Given the description of an element on the screen output the (x, y) to click on. 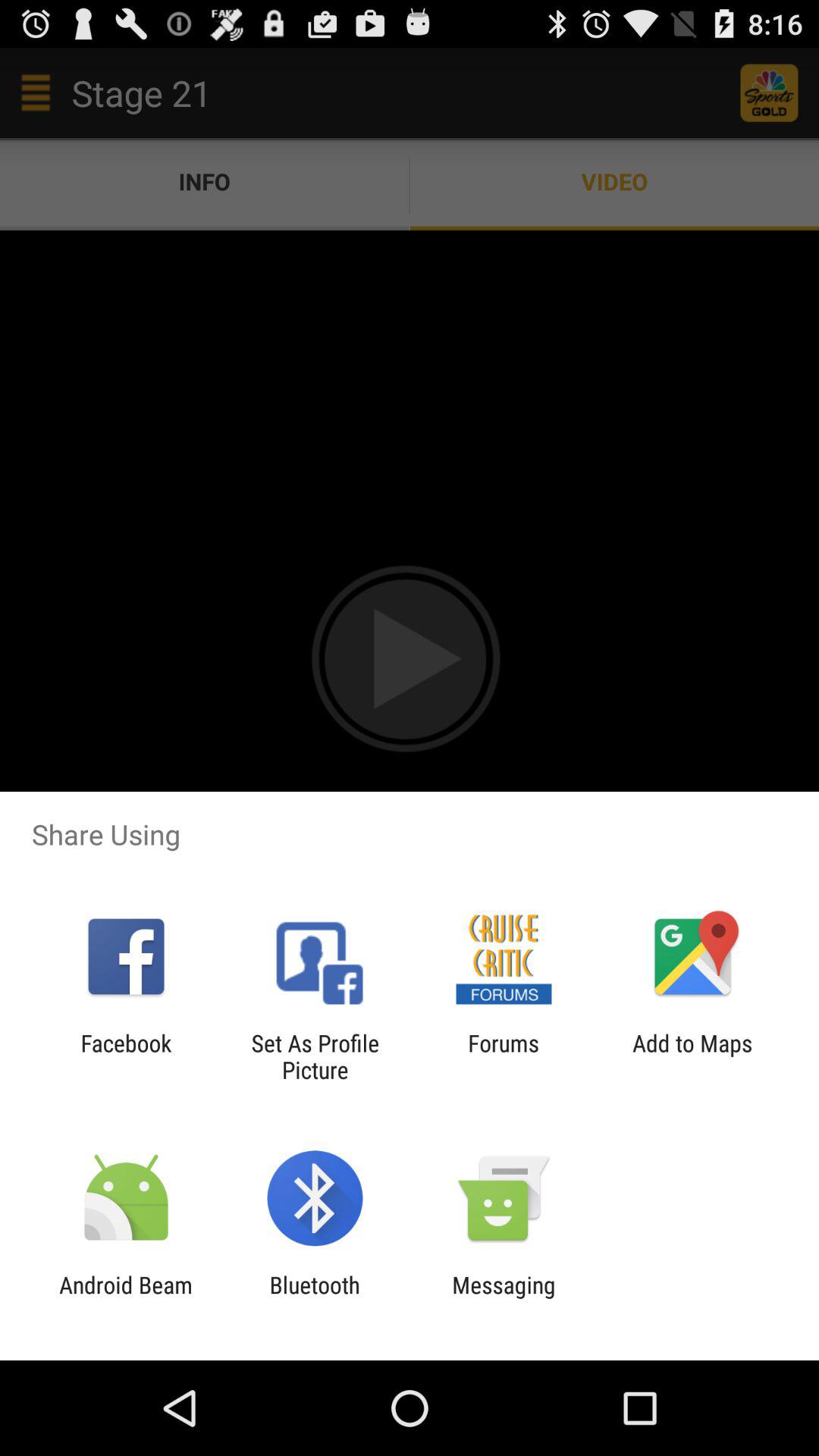
tap the bluetooth icon (314, 1298)
